Given the description of an element on the screen output the (x, y) to click on. 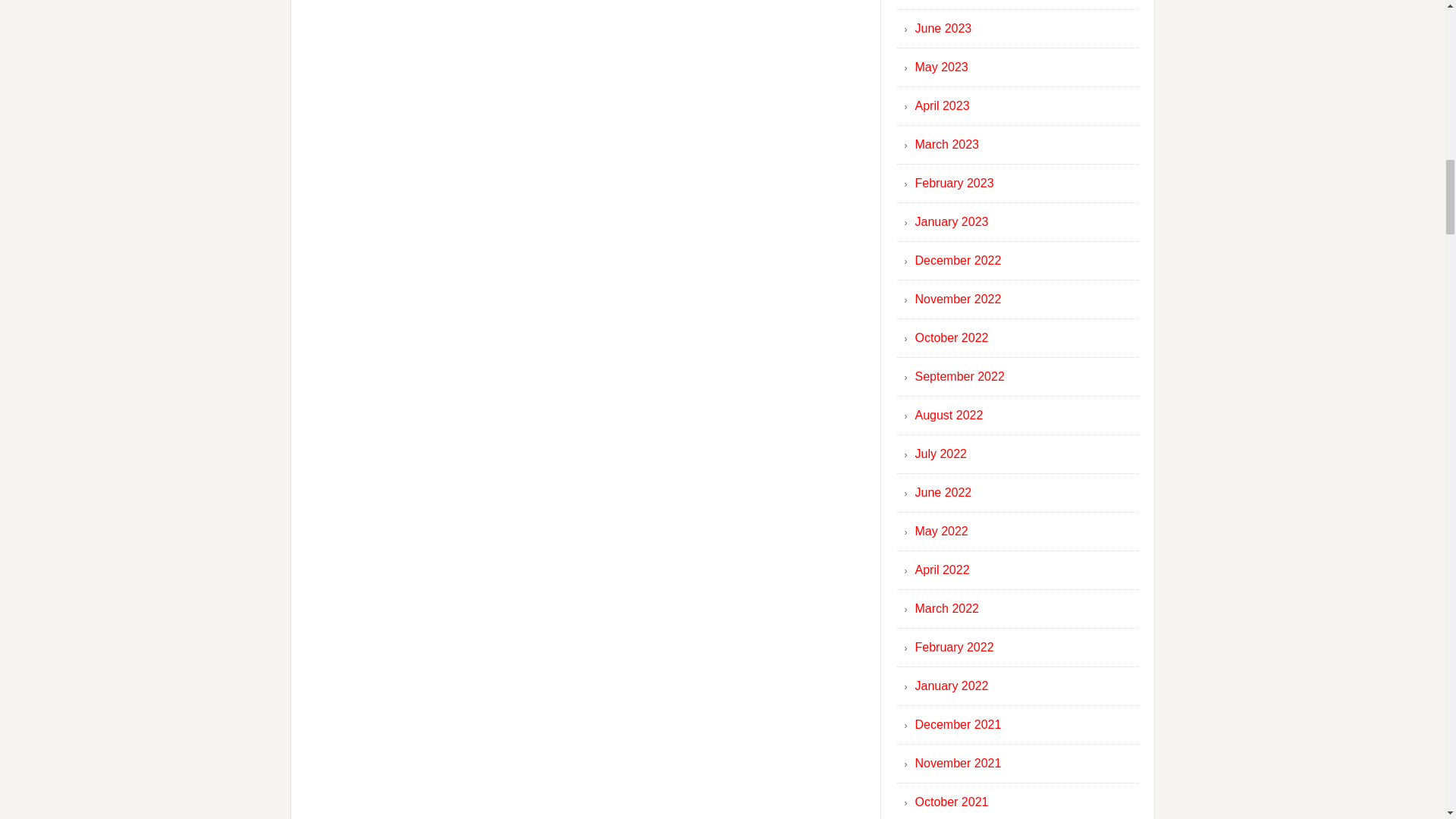
April 2023 (941, 105)
June 2023 (942, 28)
May 2023 (941, 66)
